Given the description of an element on the screen output the (x, y) to click on. 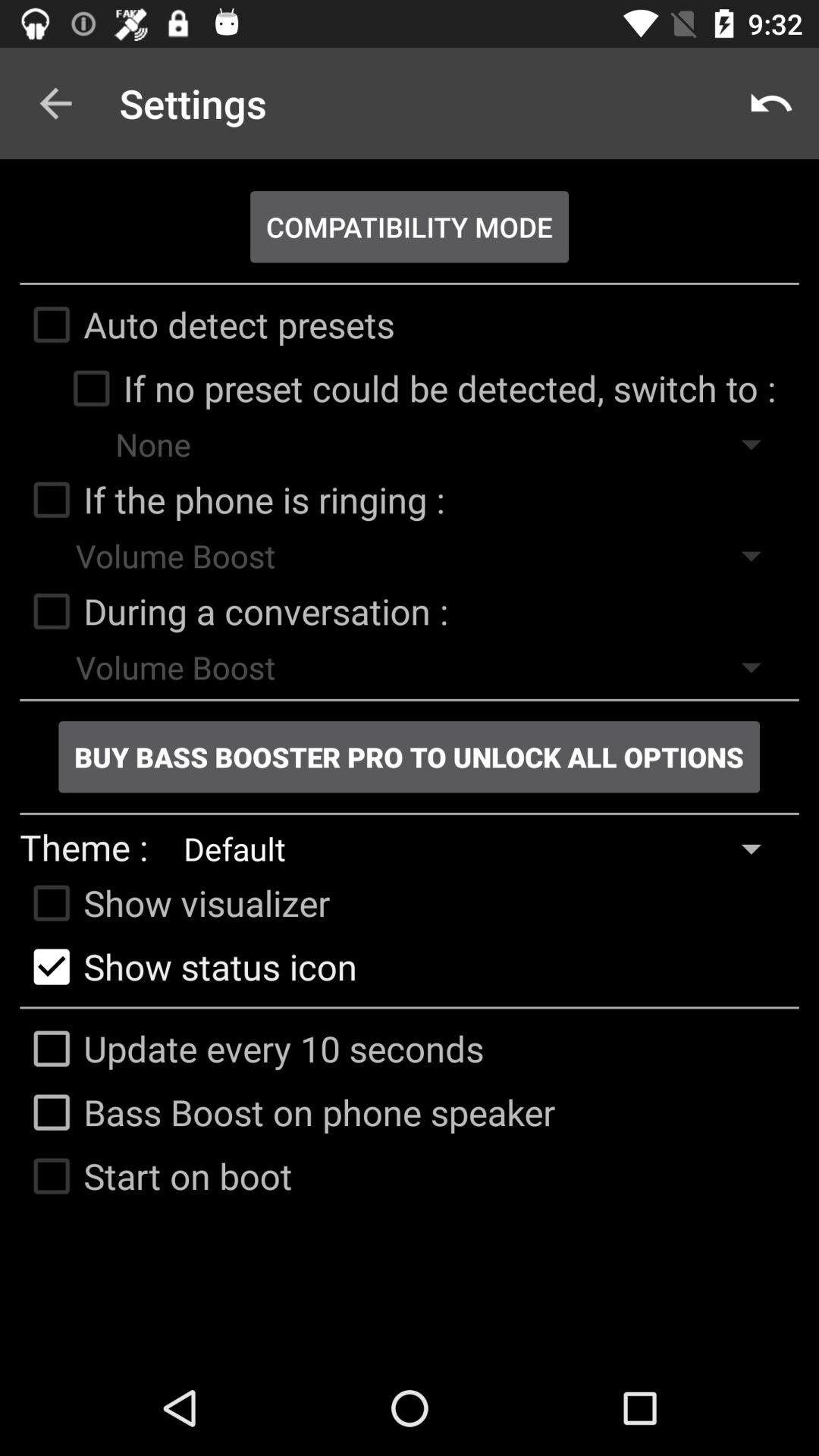
turn on app next to the settings app (771, 103)
